Given the description of an element on the screen output the (x, y) to click on. 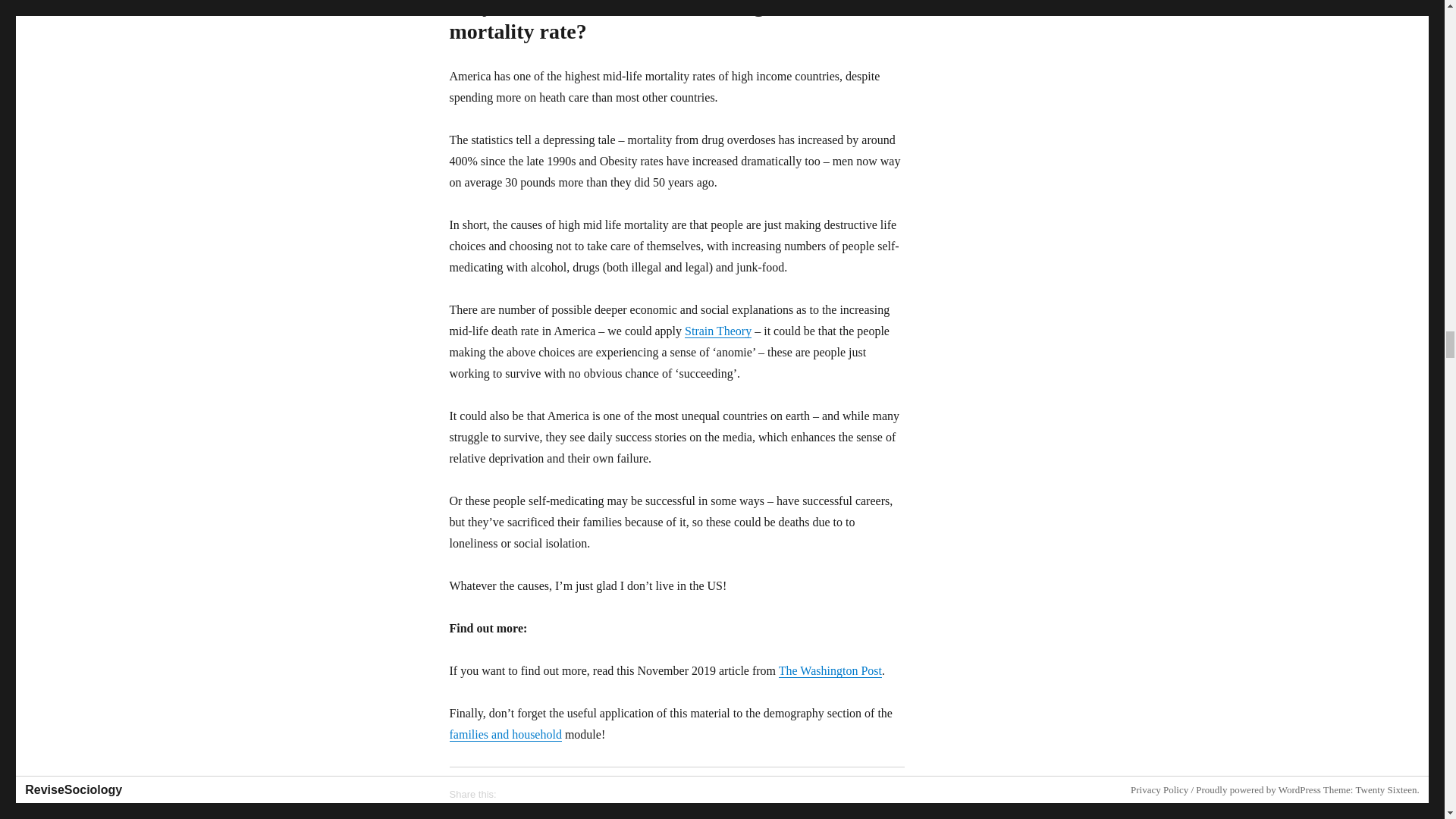
Click to email a link to a friend (513, 814)
Share on Tumblr (656, 814)
Click to share on WhatsApp (576, 814)
